Given the description of an element on the screen output the (x, y) to click on. 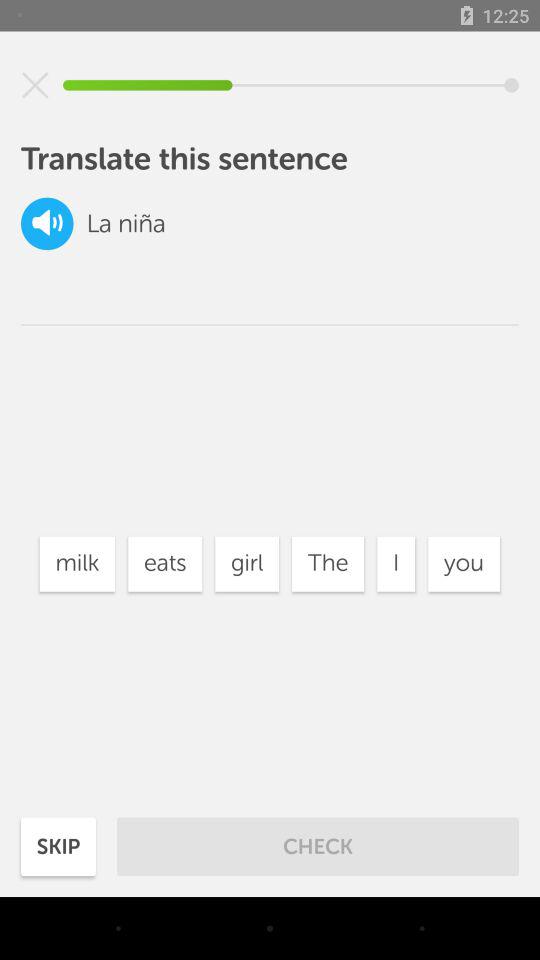
turn on icon next to the girl item (328, 563)
